Given the description of an element on the screen output the (x, y) to click on. 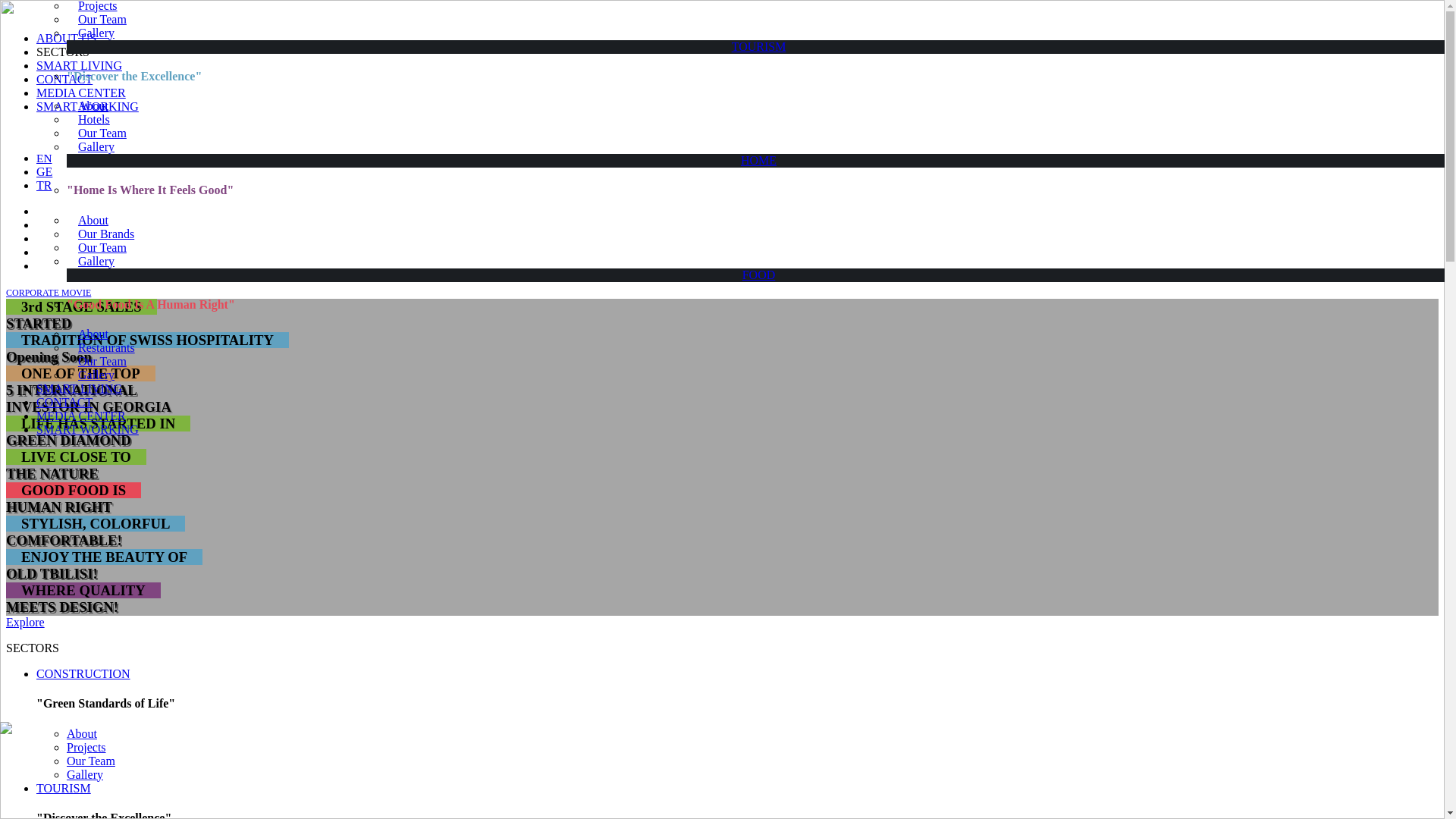
Projects (91, 6)
Our Team (96, 360)
Gallery (90, 260)
About (86, 105)
Our Team (96, 246)
CONTACT (64, 401)
Our Team (96, 132)
Gallery (90, 146)
CONTACT (64, 78)
TR (43, 185)
Hotels (88, 119)
MEDIA CENTER (80, 92)
Our Team (96, 19)
Restaurants (100, 347)
MEDIA CENTER (80, 415)
